Given the description of an element on the screen output the (x, y) to click on. 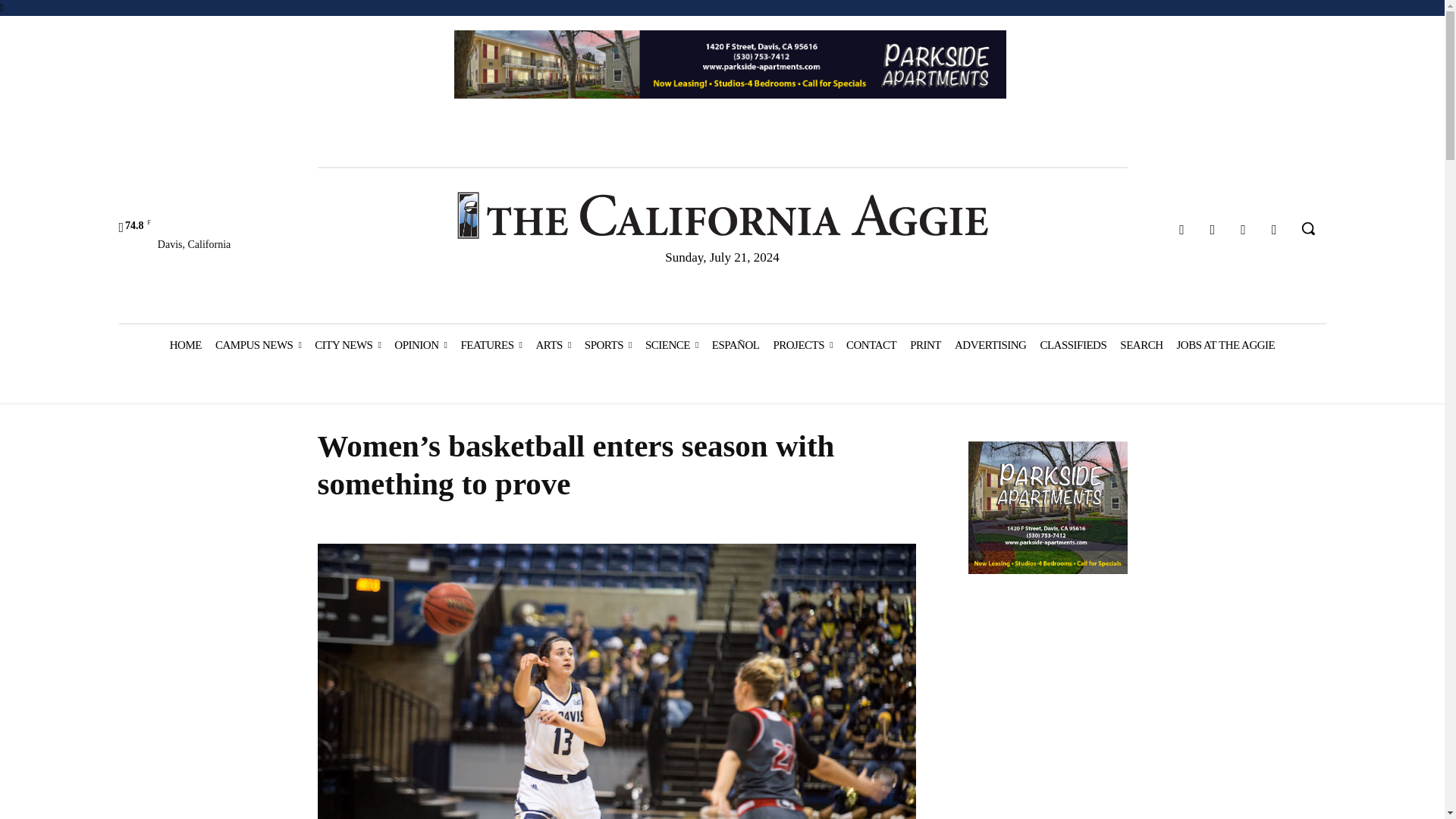
HOME (185, 345)
Facebook (1181, 229)
CAMPUS NEWS (257, 345)
Youtube (1273, 229)
Instagram (1212, 229)
Twitter (1243, 229)
